Given the description of an element on the screen output the (x, y) to click on. 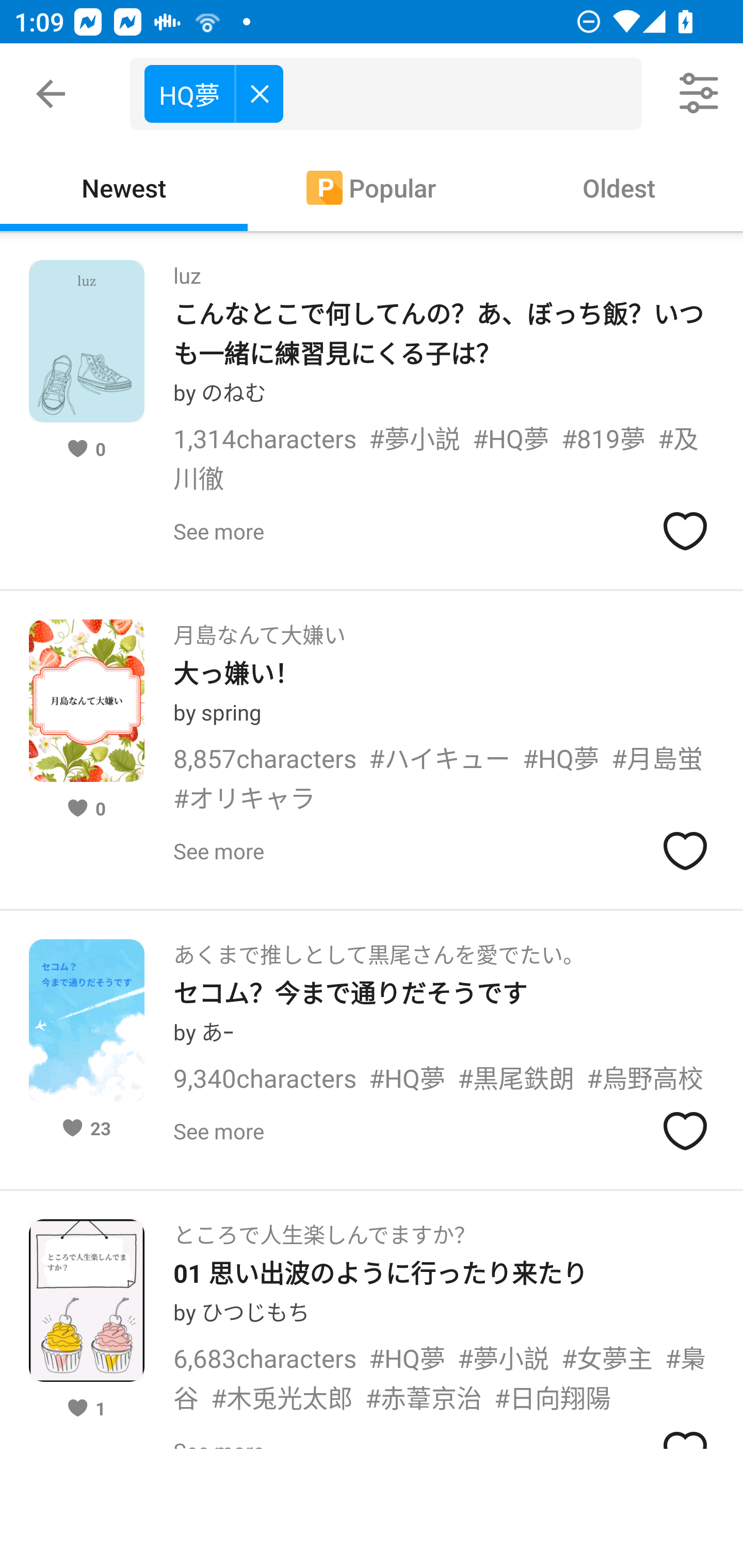
Navigate up (50, 93)
Filters (699, 93)
HQ夢 (213, 93)
[P] Popular (371, 187)
Oldest (619, 187)
luz (187, 269)
月島なんて大嫌い (259, 628)
あくまで推しとして黒尾さんを愛でたい。 (378, 948)
ところで人生楽しんでますか？ (324, 1228)
